Given the description of an element on the screen output the (x, y) to click on. 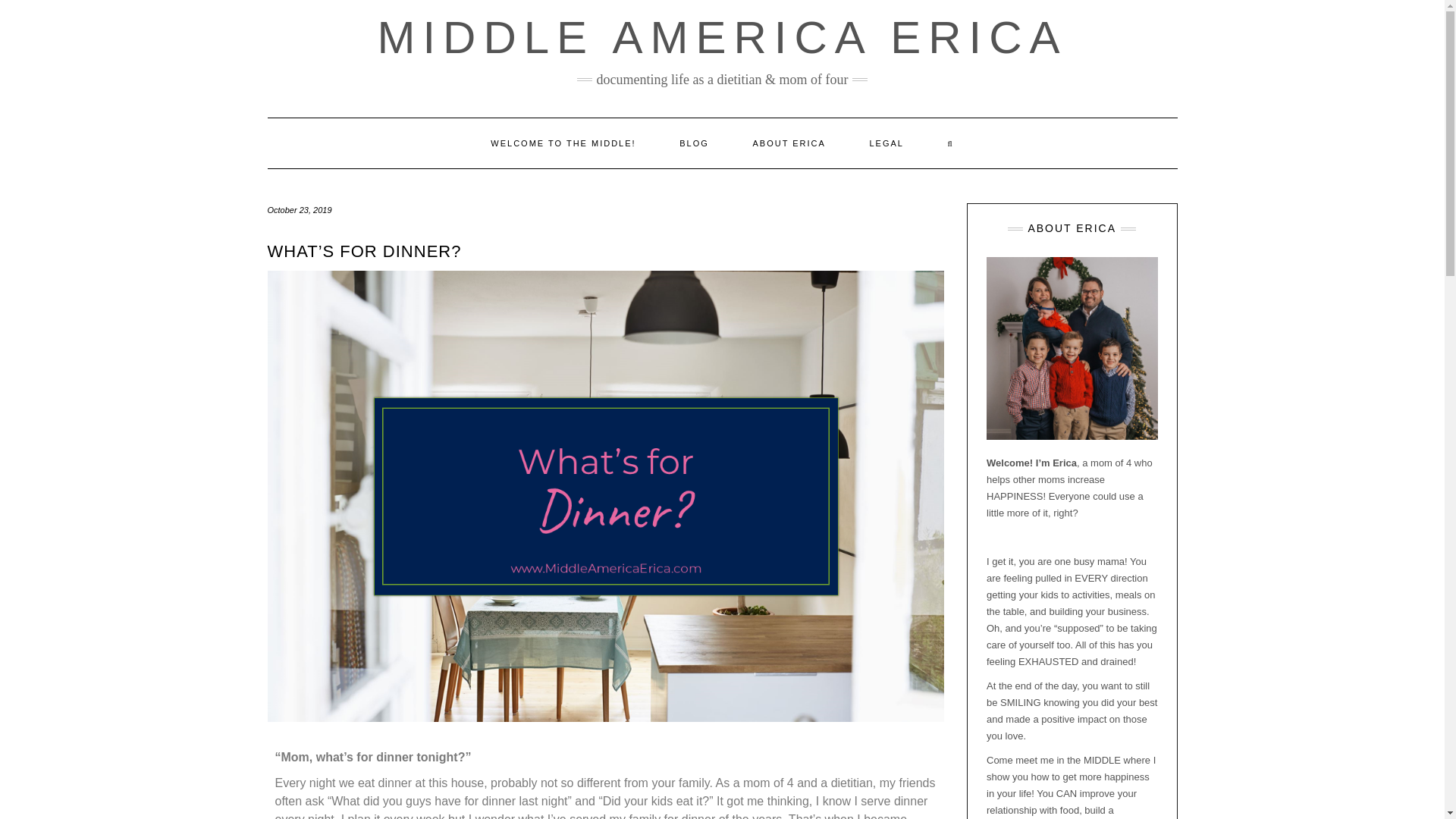
ABOUT ERICA (788, 142)
WELCOME TO THE MIDDLE! (563, 142)
MIDDLE AMERICA ERICA (722, 37)
BLOG (694, 142)
LEGAL (885, 142)
